Given the description of an element on the screen output the (x, y) to click on. 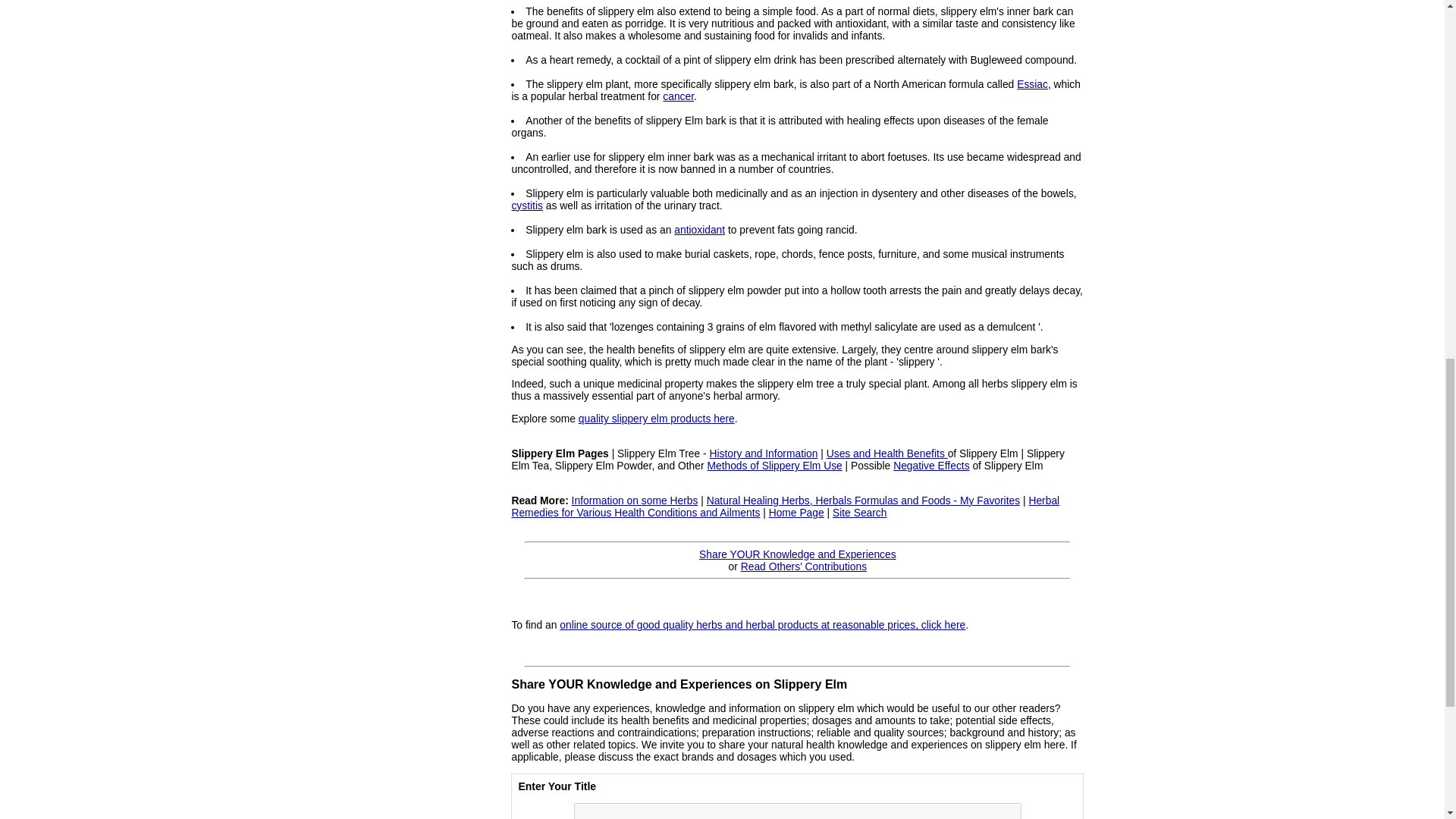
History and Information (764, 453)
antioxidant (699, 229)
Herbal Remedies for Various Health Conditions and Ailments (785, 506)
cancer (678, 96)
Site Search (859, 512)
Uses and Health Benefits (887, 453)
cystitis (527, 205)
Home Page (796, 512)
Essiac (1032, 83)
Negative Effects (931, 465)
Information on some Herbs (635, 500)
quality slippery elm products here (656, 418)
Methods of Slippery Elm Use (773, 465)
